Given the description of an element on the screen output the (x, y) to click on. 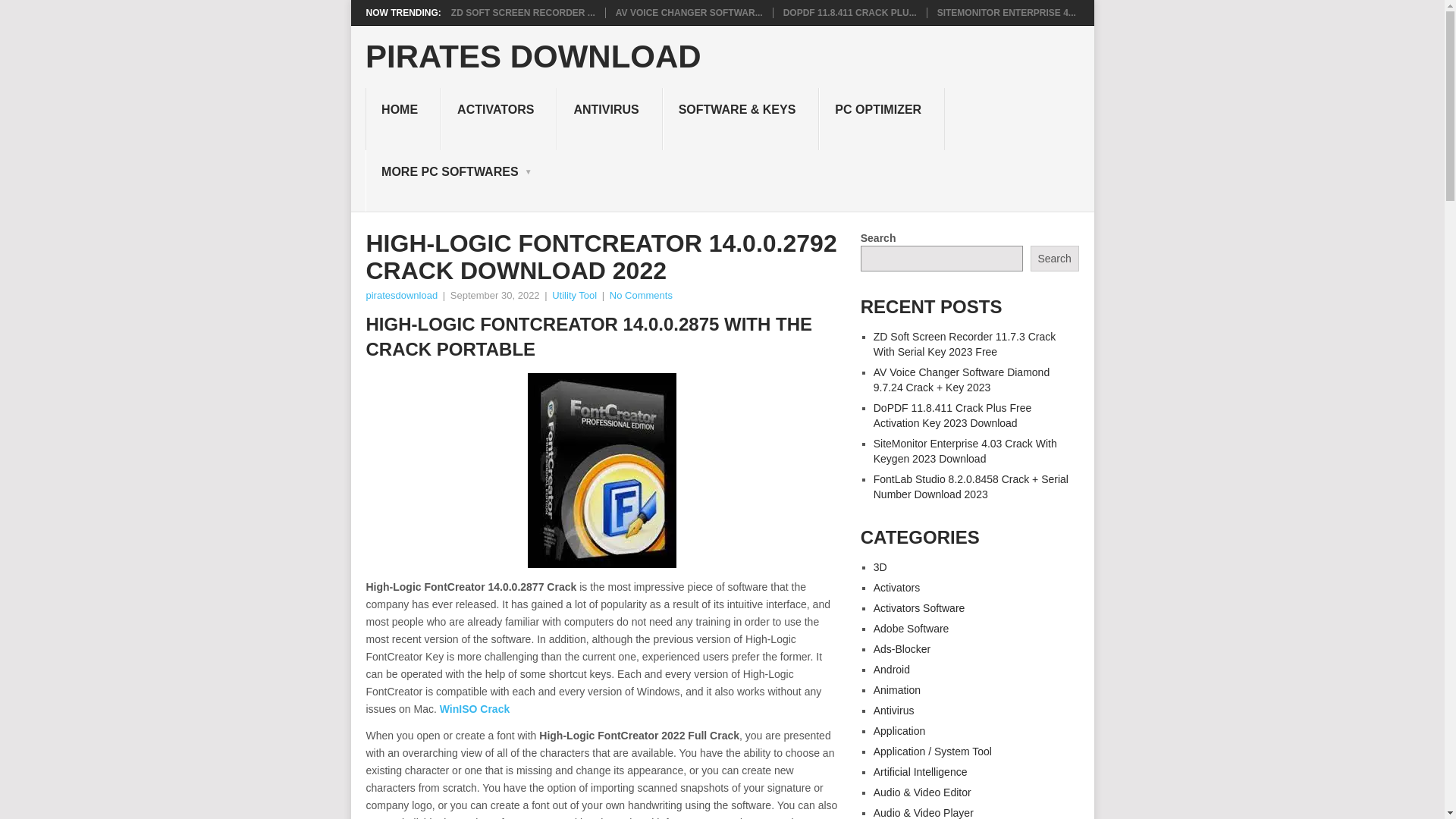
SITEMONITOR ENTERPRISE 4... (1006, 12)
DOPDF 11.8.411 CRACK PLU... (850, 12)
ACTIVATORS (499, 118)
WinISO Crack (474, 708)
Posts by piratesdownload (401, 295)
DoPDF 11.8.411 Crack Plus Free Activation Key 2023 Download (850, 12)
PC OPTIMIZER (881, 118)
MORE PC SOFTWARES (452, 180)
AV VOICE CHANGER SOFTWAR... (688, 12)
HOME (403, 118)
No Comments (641, 295)
piratesdownload (401, 295)
ANTIVIRUS (609, 118)
Search (1054, 258)
Utility Tool (573, 295)
